Given the description of an element on the screen output the (x, y) to click on. 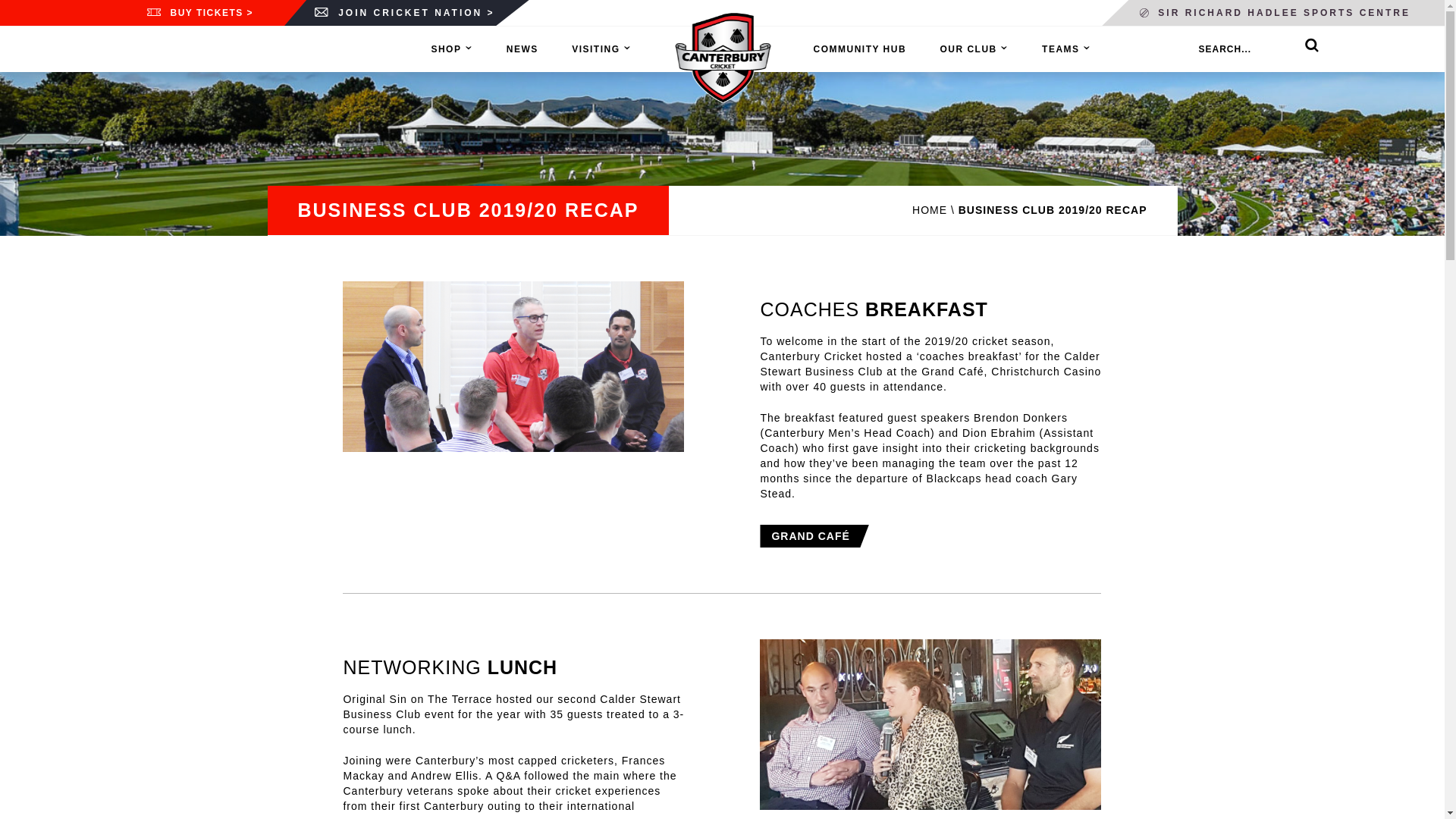
OUR CLUB (967, 48)
TEAMS (1061, 48)
VISITING (596, 48)
COMMUNITY HUB (858, 48)
